Given the description of an element on the screen output the (x, y) to click on. 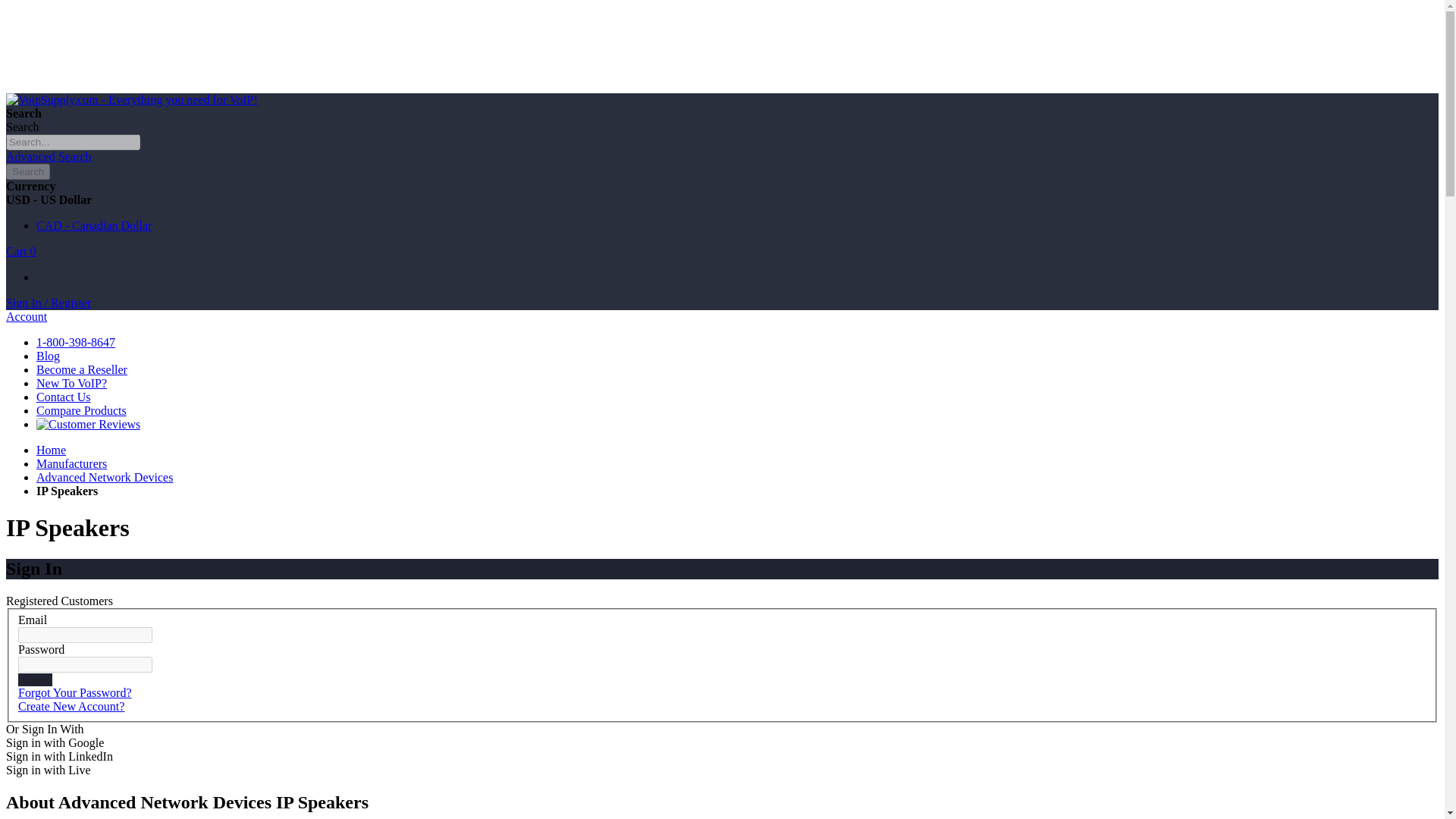
Sign in with Live (47, 769)
Sign in with Google (54, 742)
Cart 0 (20, 250)
Advanced Search (47, 155)
My Account (47, 302)
VoipSupply.com - Everything you need for VoIP! (131, 99)
1-800-398-8647 (75, 341)
Blog (47, 355)
Login (34, 679)
Manufacturers (71, 463)
Sign in with LinkedIn (59, 756)
Account (25, 316)
Forgot Your Password? (74, 692)
Password (84, 664)
Become a Reseller (82, 369)
